Given the description of an element on the screen output the (x, y) to click on. 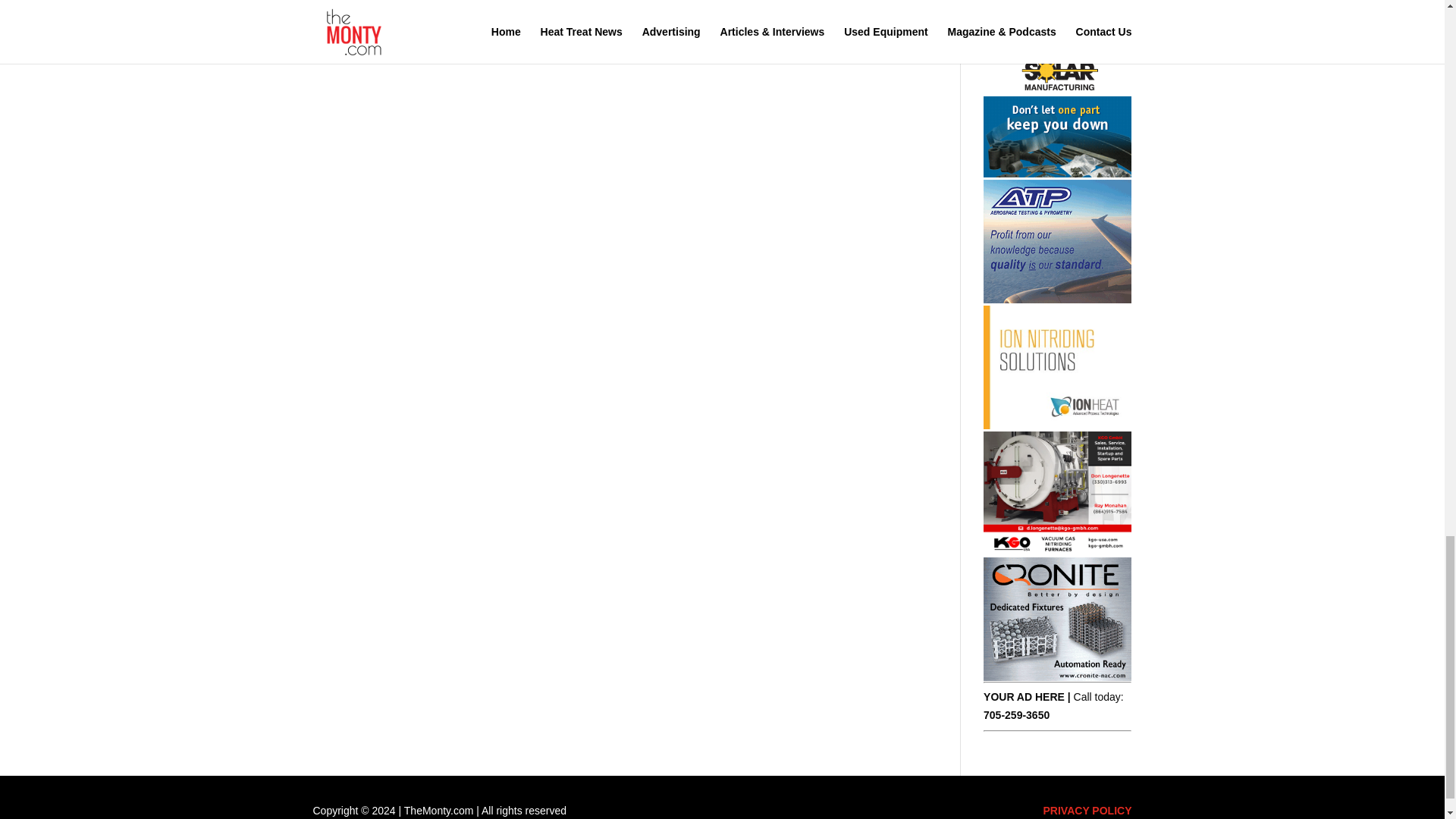
PRIVACY POLICY (1087, 810)
